Given the description of an element on the screen output the (x, y) to click on. 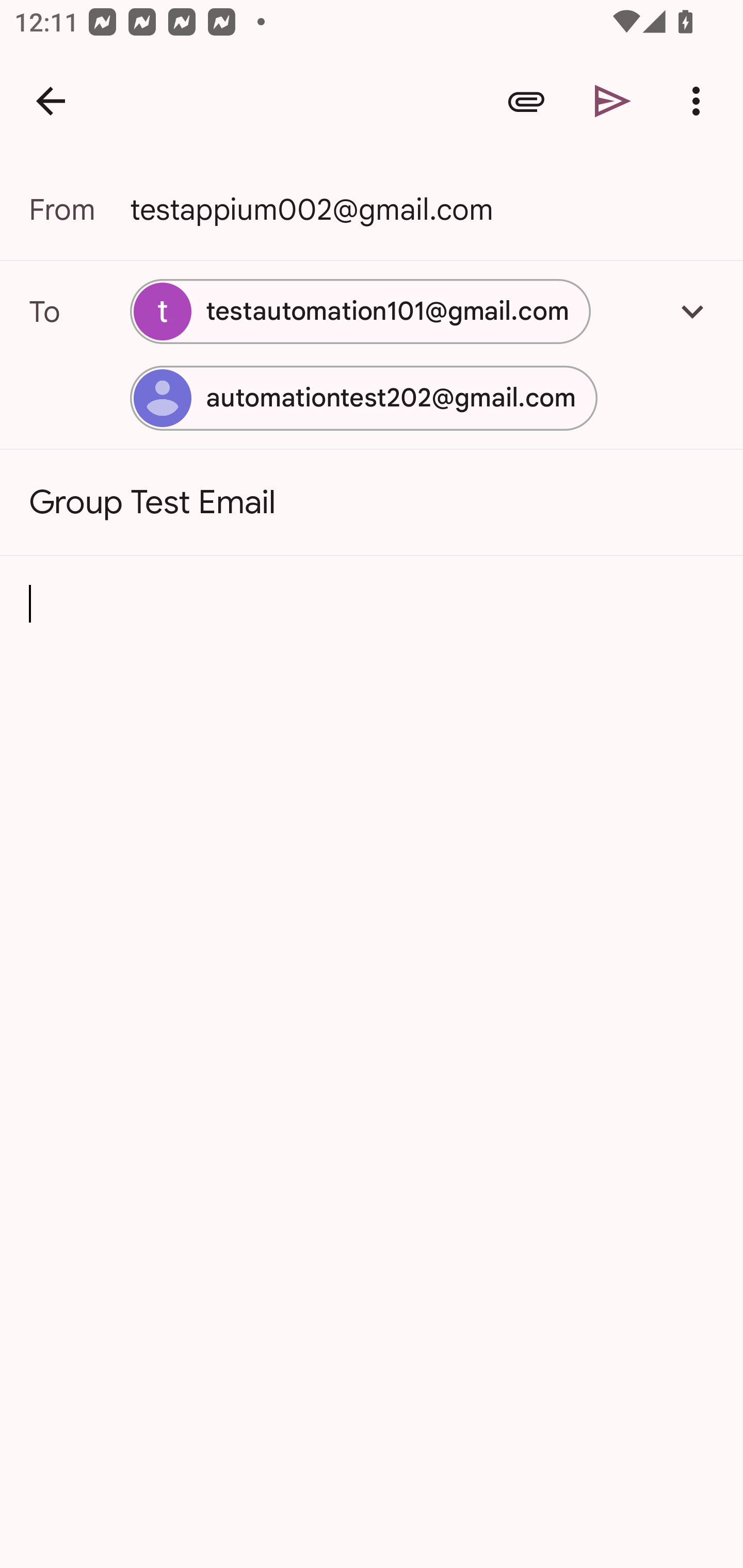
Navigate up (50, 101)
Attach file (525, 101)
Send (612, 101)
More options (699, 101)
From (79, 209)
Add Cc/Bcc (692, 311)
Group Test Email (371, 502)
